Given the description of an element on the screen output the (x, y) to click on. 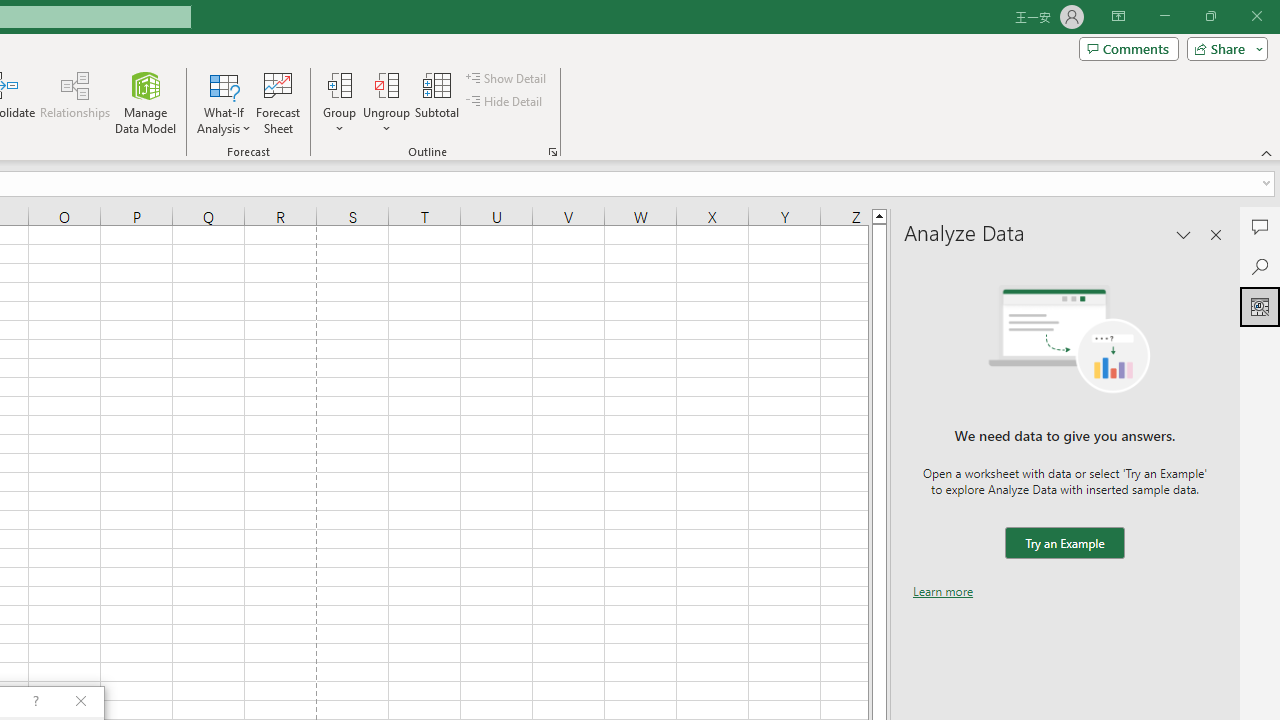
Group and Outline Settings (552, 151)
Minimize (1164, 16)
We need data to give you answers. Try an Example (1064, 543)
Search (1260, 266)
Hide Detail (505, 101)
Task Pane Options (1183, 234)
Analyze Data (1260, 306)
Close (1256, 16)
Line up (879, 215)
Ribbon Display Options (1118, 16)
Comments (1128, 48)
Show Detail (507, 78)
Collapse the Ribbon (1267, 152)
What-If Analysis (223, 102)
